Given the description of an element on the screen output the (x, y) to click on. 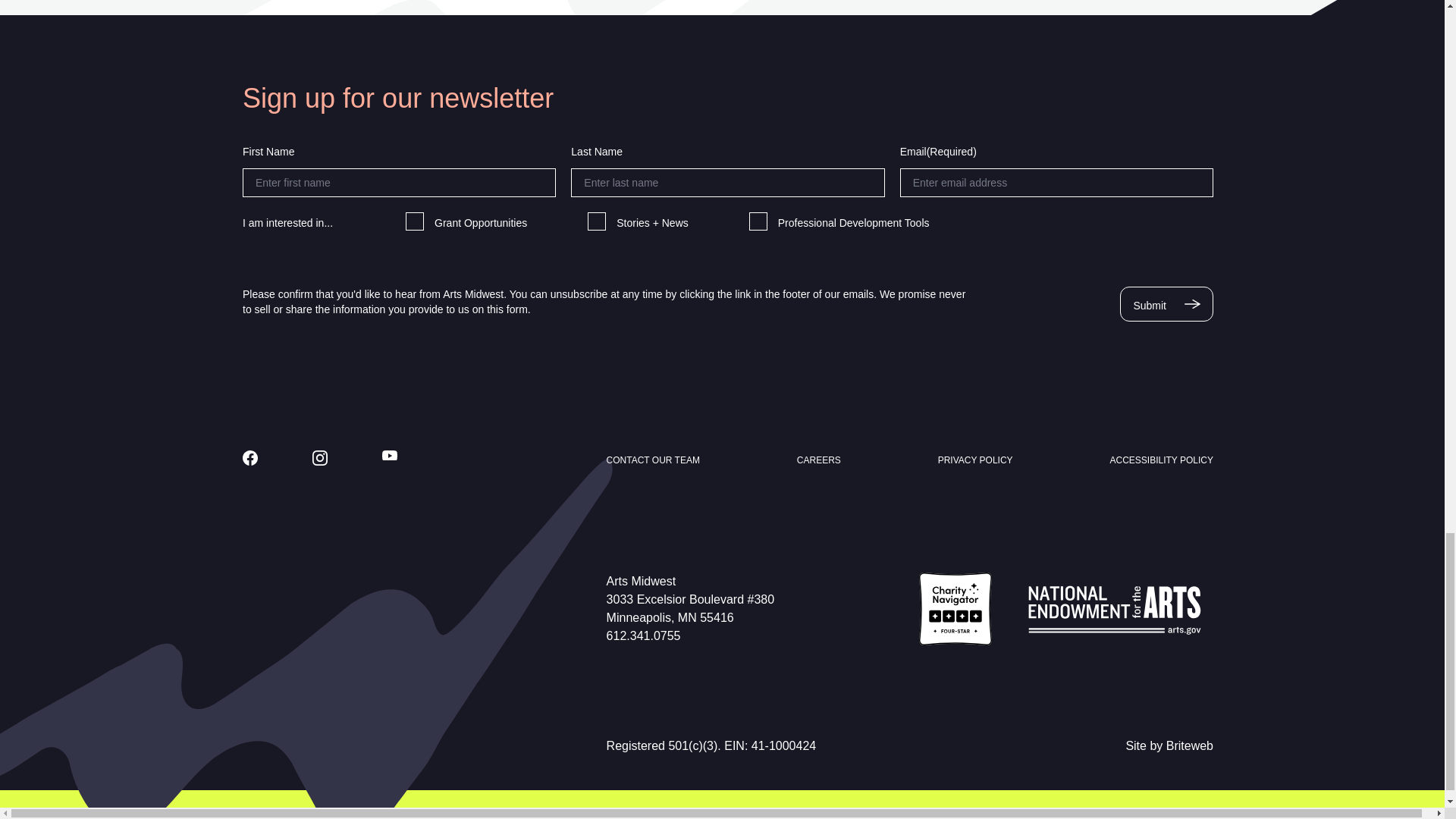
Grant Opportunities (414, 221)
Professional Development Tools (758, 221)
Follow us on Youtube (389, 455)
Privacy Policy (975, 460)
Follow us on Instagram (320, 458)
Arts Midwest on Charity Navigator (954, 607)
Careers (818, 460)
Follow us on Facebook (250, 458)
National Endowment for the Arts (1114, 607)
Contact Our Team (653, 460)
Accessibility Policy (1160, 460)
